Given the description of an element on the screen output the (x, y) to click on. 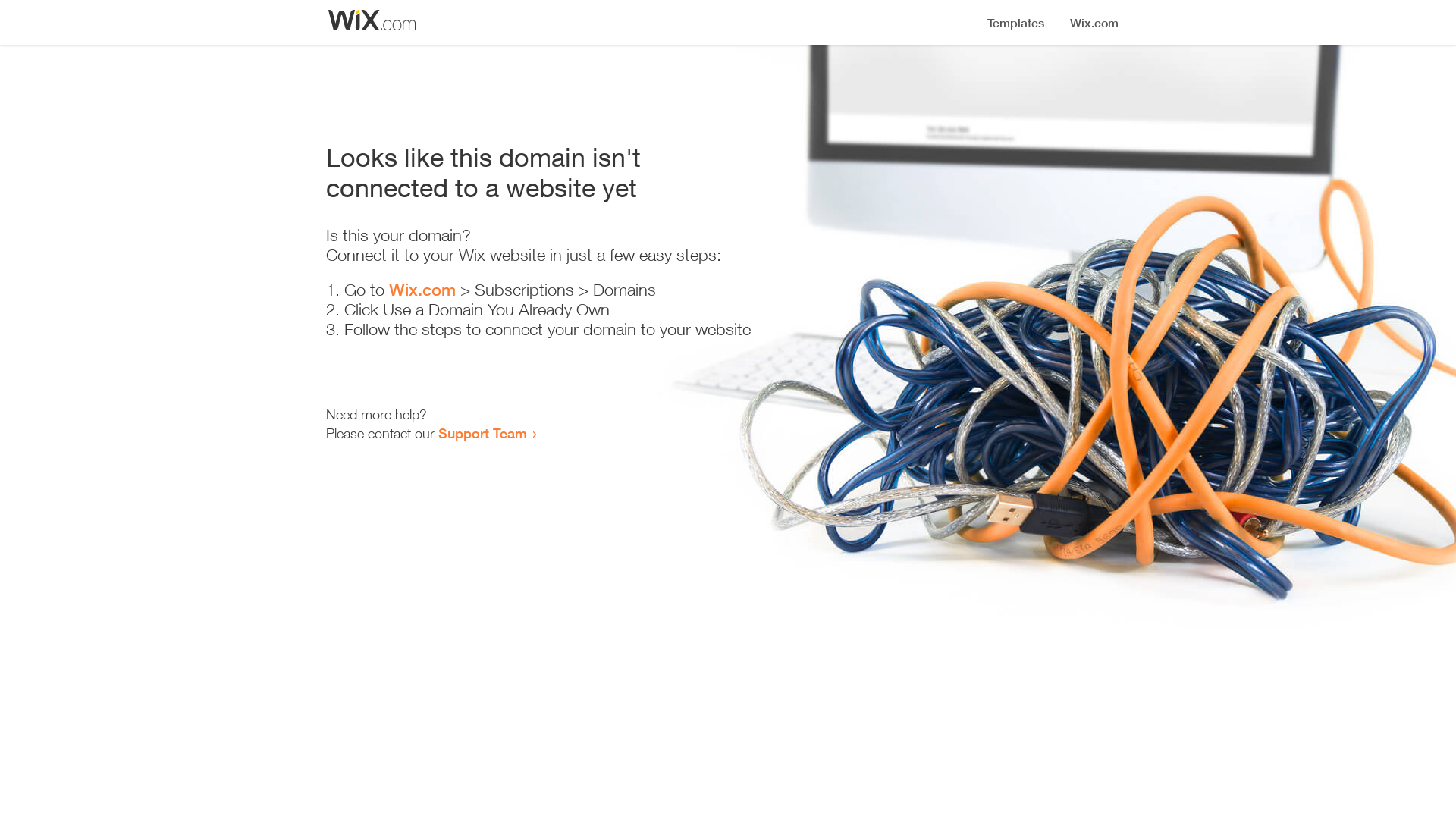
Wix.com Element type: text (422, 289)
Support Team Element type: text (482, 432)
